Given the description of an element on the screen output the (x, y) to click on. 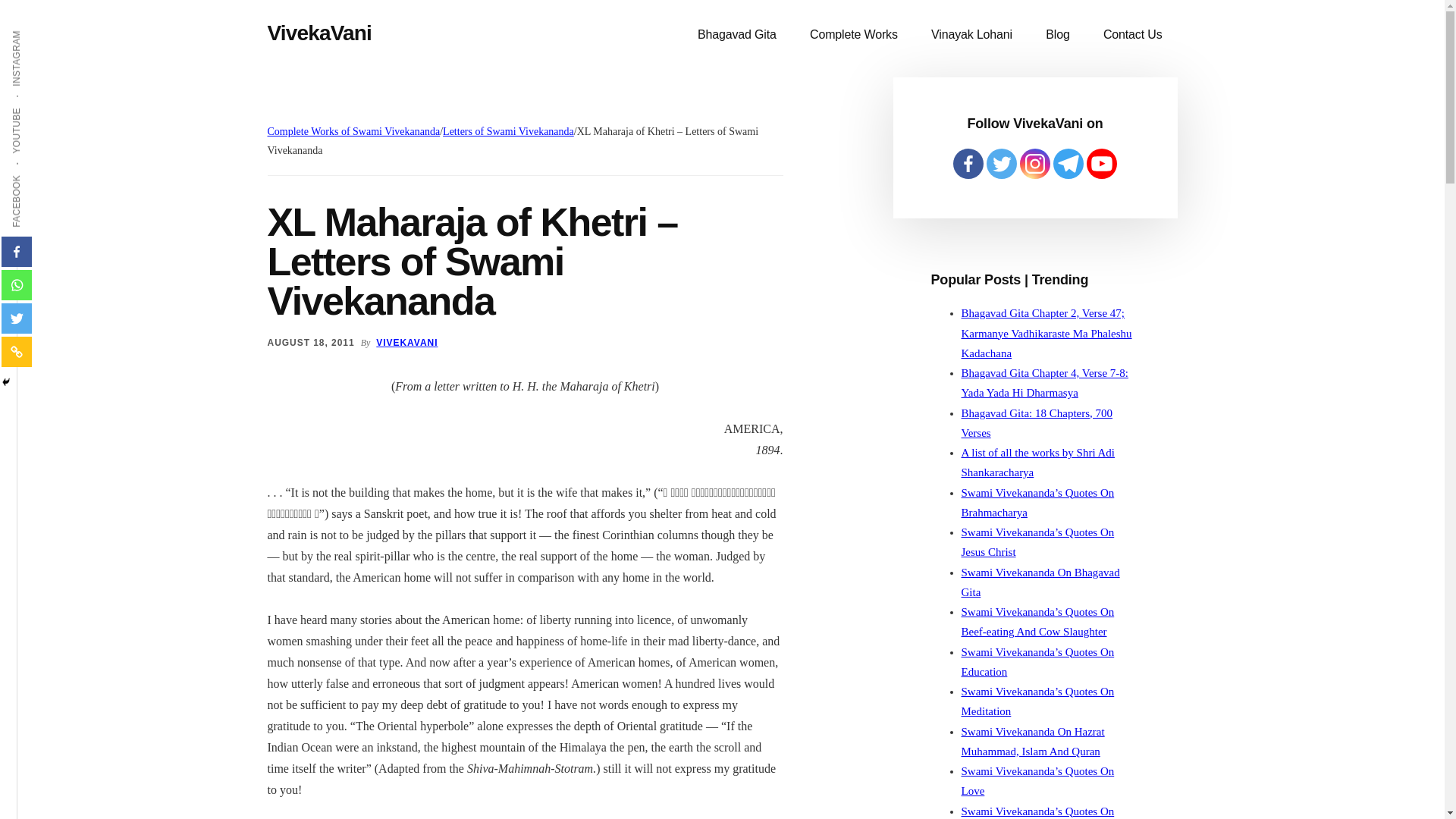
Twitter (1001, 163)
VivekaVani (318, 33)
Facebook (16, 251)
Go to the Letters of Swami Vivekananda Category archives. (507, 131)
Blog (1057, 34)
YOUTUBE (41, 106)
FACEBOOK (44, 173)
Telegram (1067, 163)
Copy Link (16, 351)
Hide (5, 381)
Twitter (16, 318)
Vinayak Lohani (971, 34)
Complete Works (853, 34)
Instagram (1034, 163)
Bhagavad Gita (737, 34)
